Given the description of an element on the screen output the (x, y) to click on. 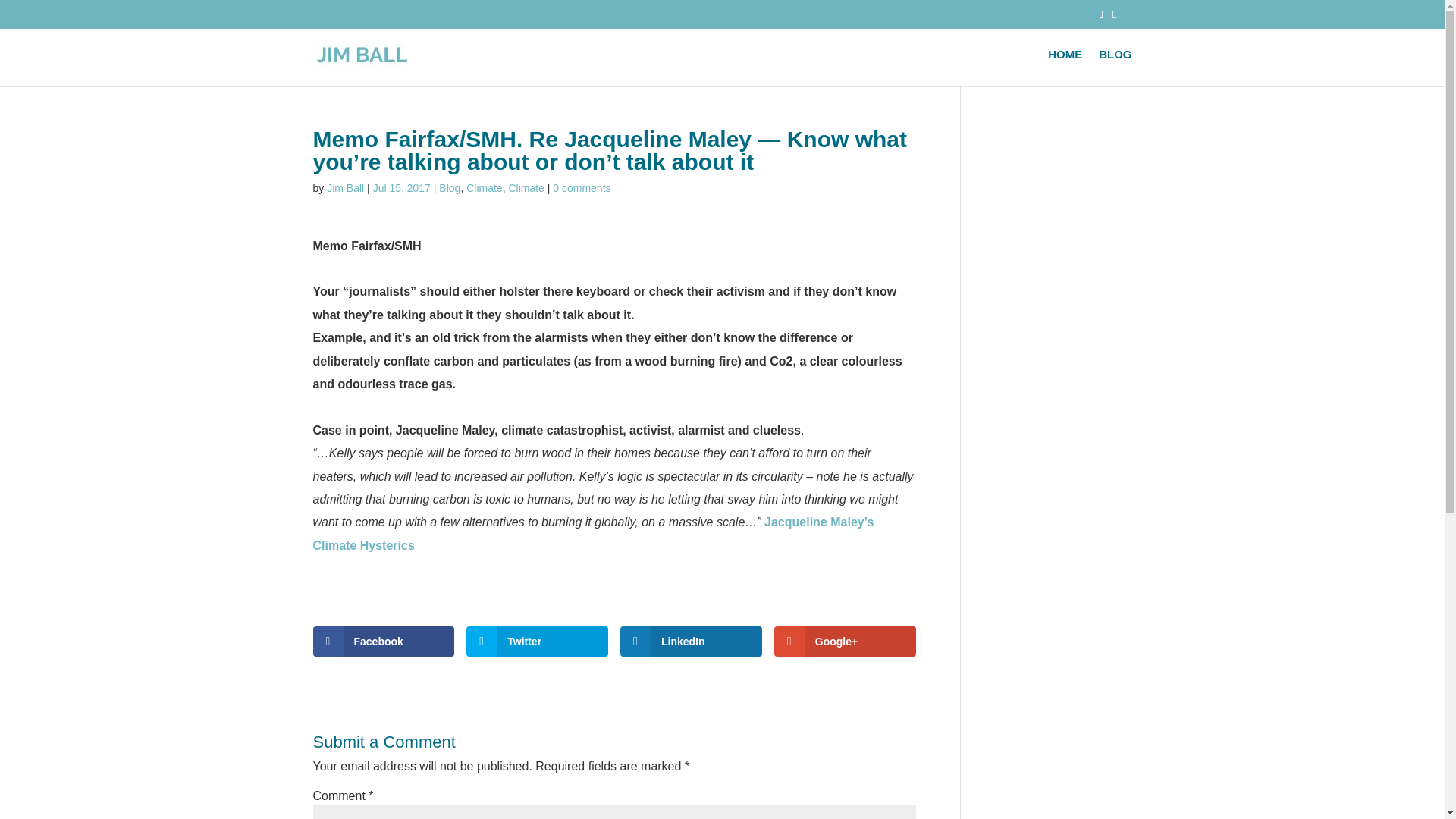
Jim Ball (345, 187)
0 comments (581, 187)
Facebook (383, 641)
Blog (449, 187)
LinkedIn (690, 641)
Climate (483, 187)
Climate (525, 187)
Posts by Jim Ball (345, 187)
Twitter (536, 641)
HOME (1064, 67)
